Given the description of an element on the screen output the (x, y) to click on. 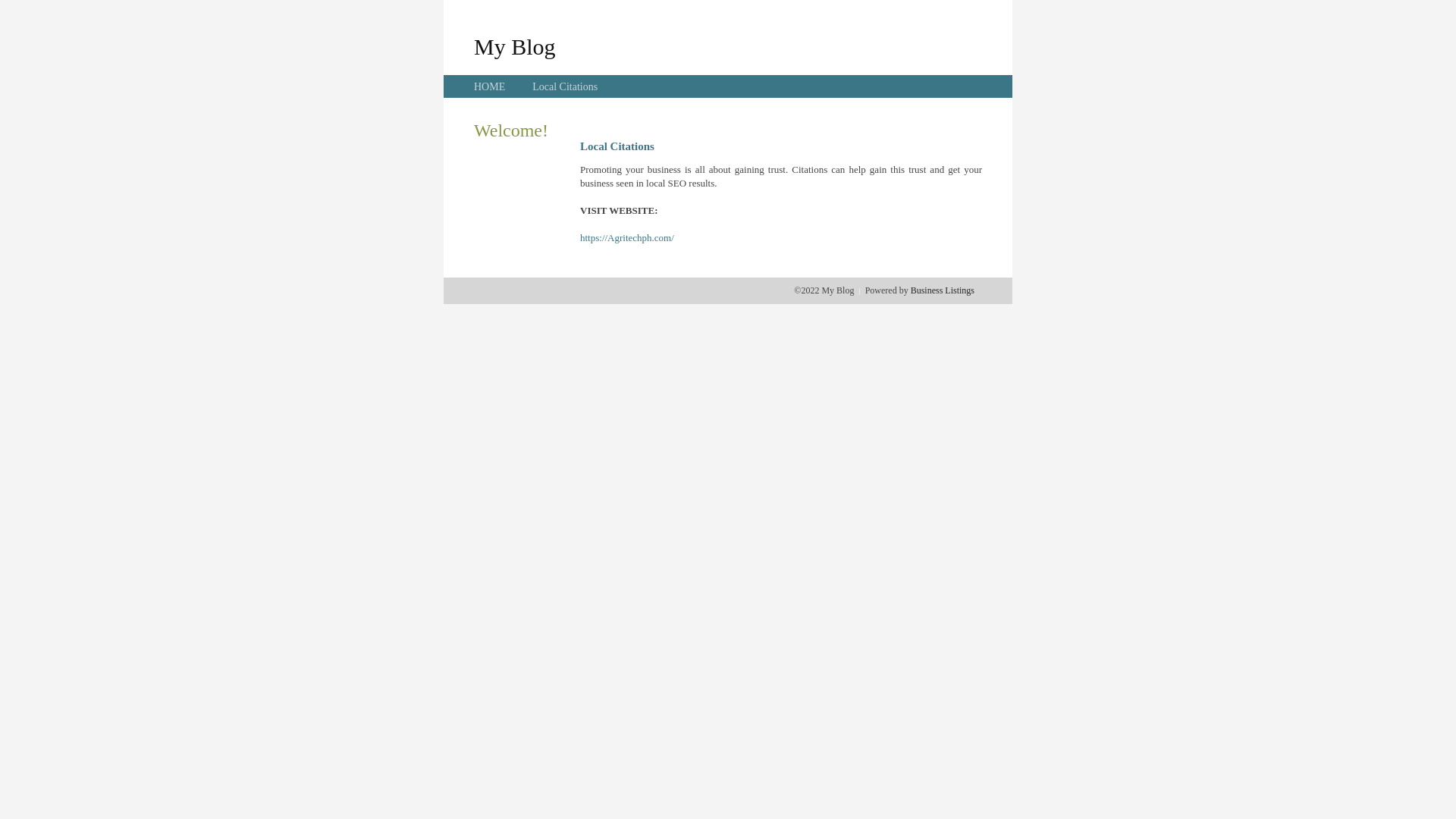
My Blog Element type: text (514, 46)
Local Citations Element type: text (564, 86)
HOME Element type: text (489, 86)
Business Listings Element type: text (942, 290)
https://Agritechph.com/ Element type: text (627, 237)
